Given the description of an element on the screen output the (x, y) to click on. 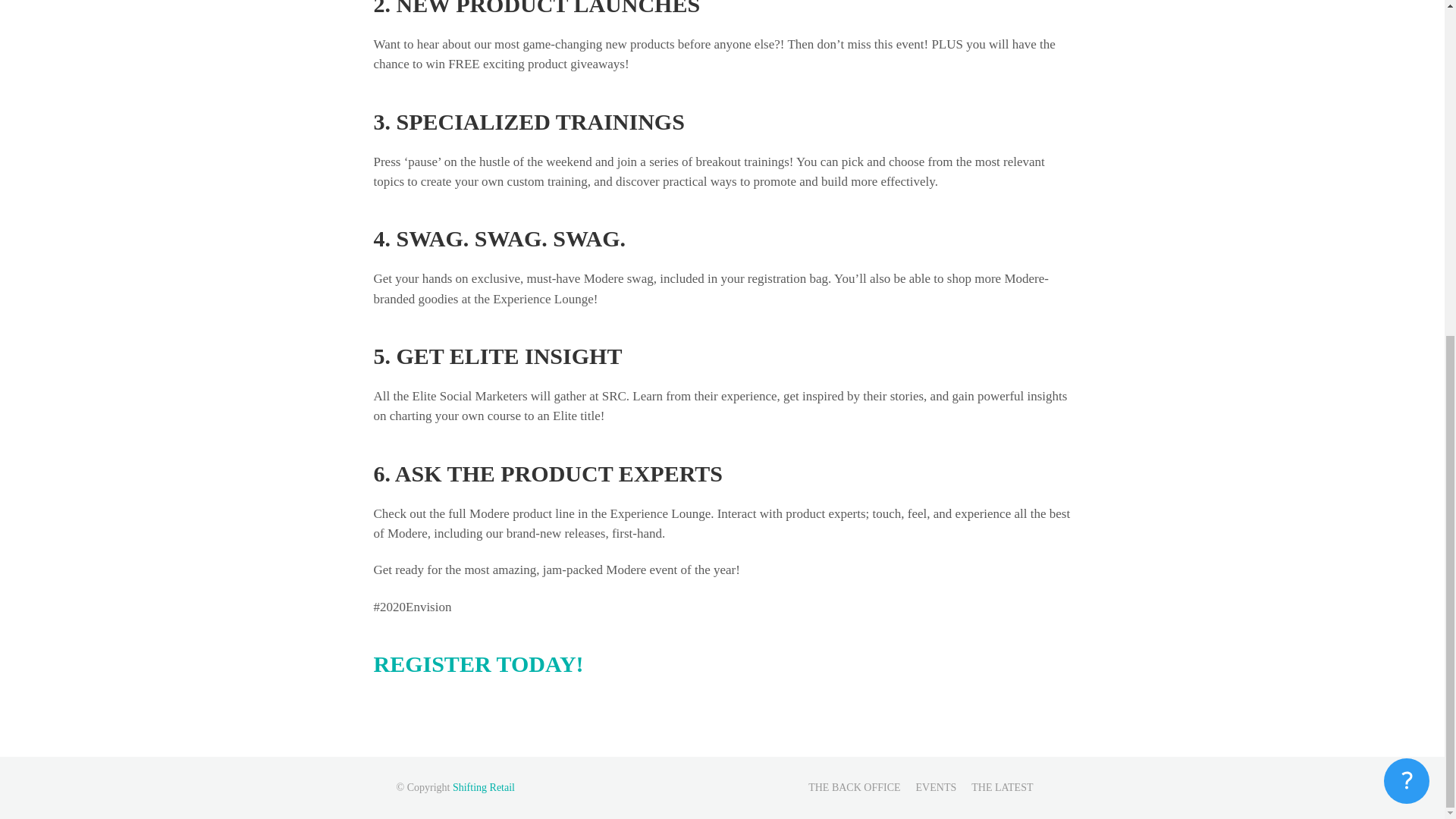
THE LATEST (1001, 787)
Modere The Latest (1001, 787)
REGISTER TODAY! (477, 663)
THE BACK OFFICE (853, 787)
EVENTS (935, 787)
Modere Events (935, 787)
Shifting Retail (483, 787)
Modere Back Office (853, 787)
